Given the description of an element on the screen output the (x, y) to click on. 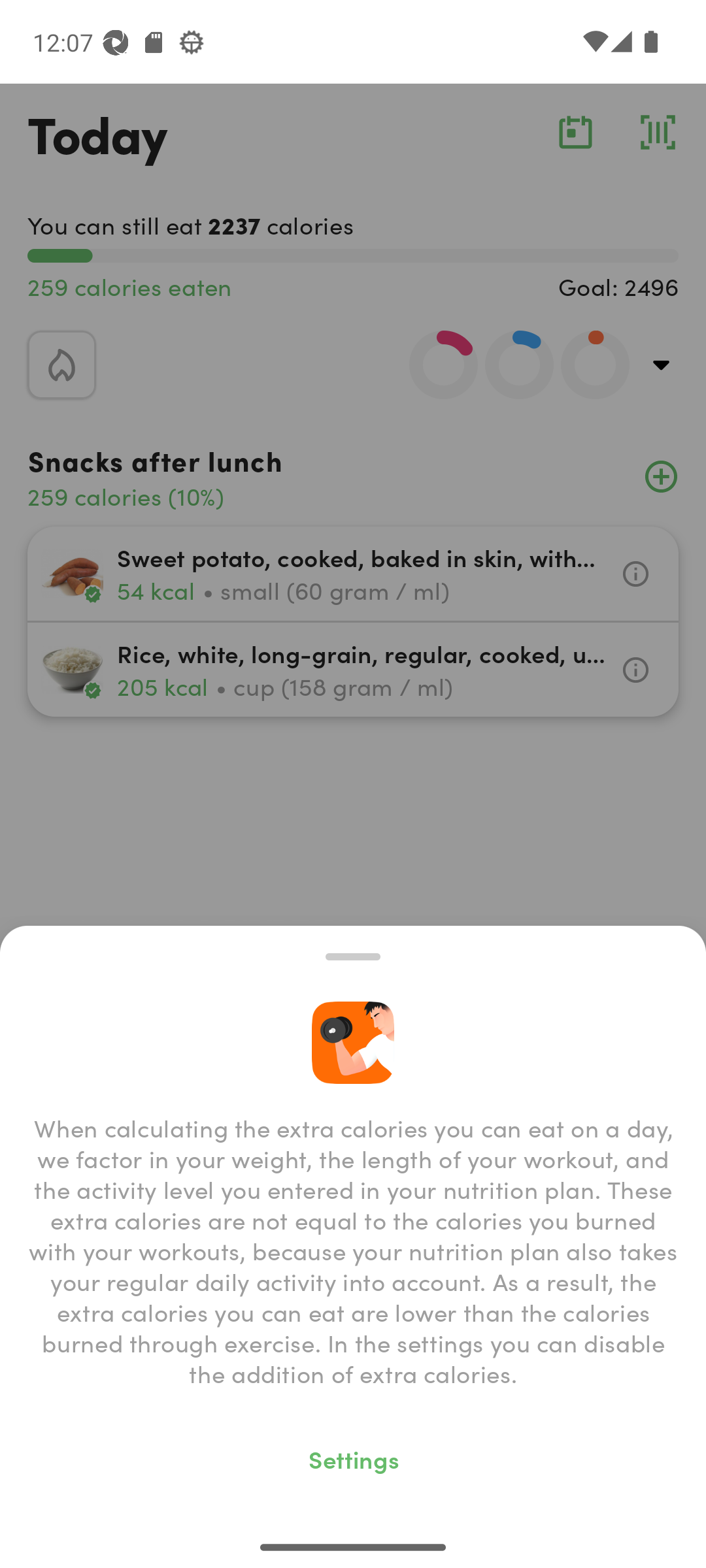
Settings (353, 1458)
